Given the description of an element on the screen output the (x, y) to click on. 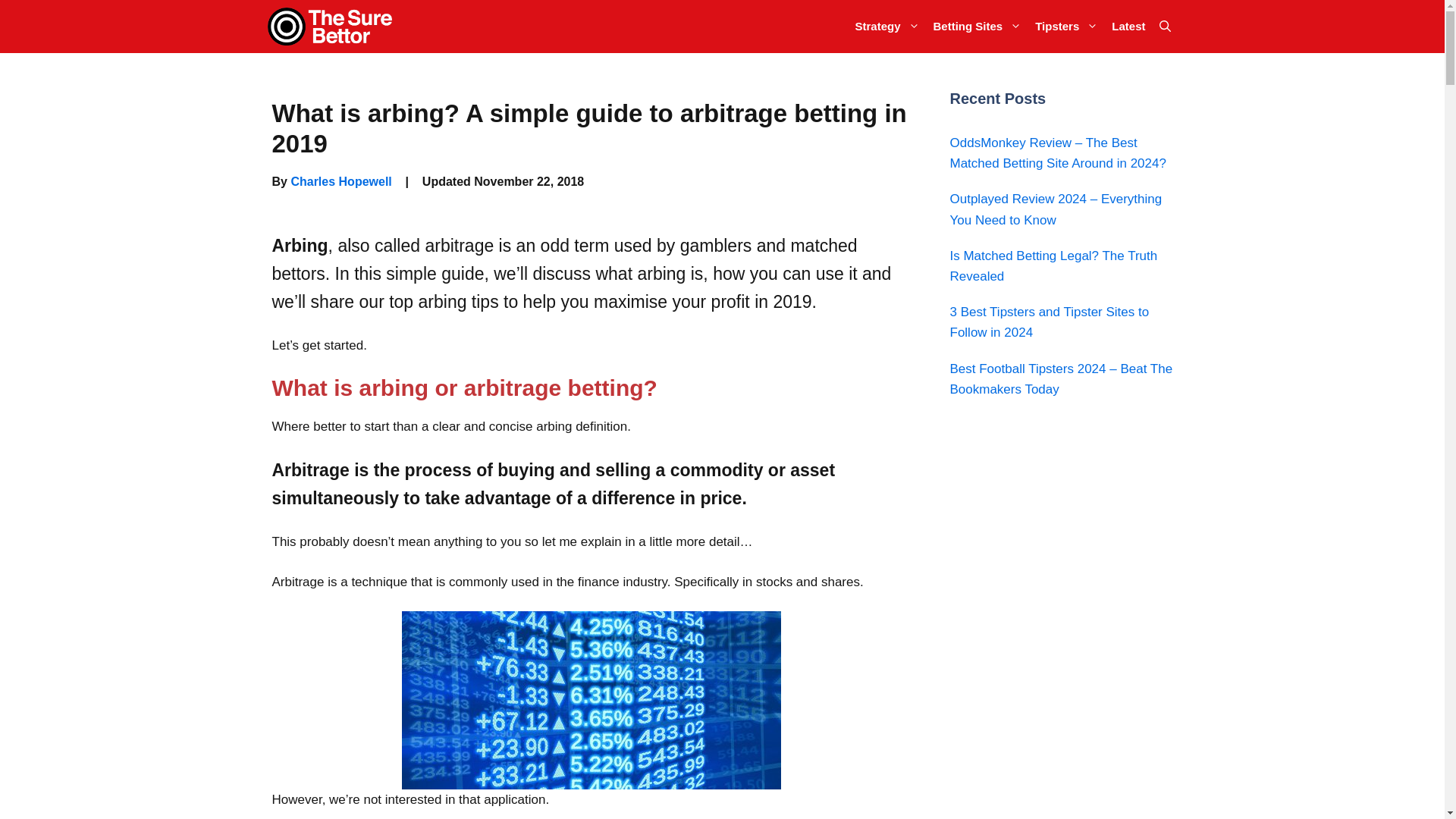
The Sure Bettor (330, 26)
Tipsters (1066, 26)
Charles Hopewell (340, 181)
Betting Sites (977, 26)
Strategy (886, 26)
The Sure Bettor (334, 26)
